Given the description of an element on the screen output the (x, y) to click on. 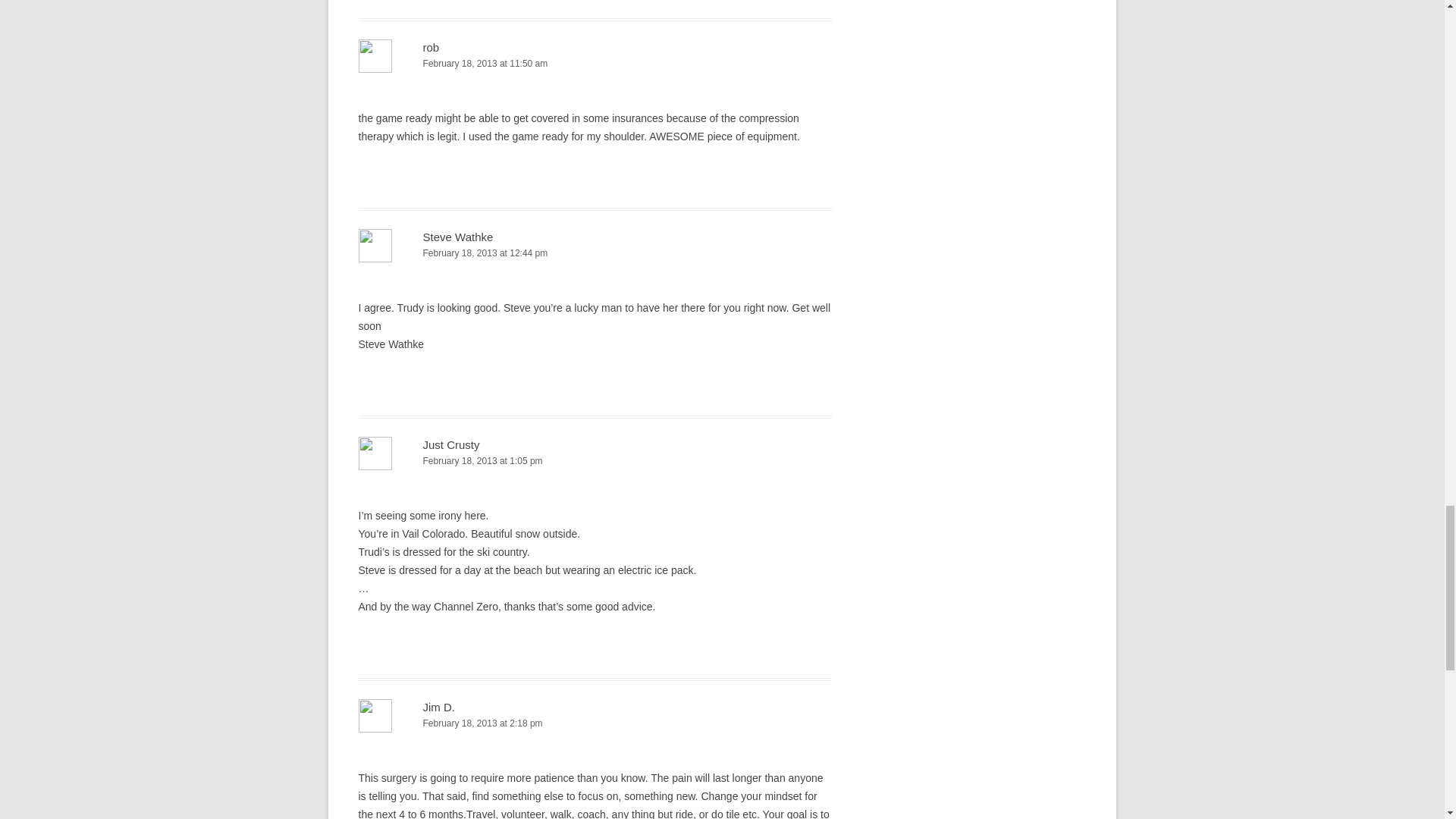
February 18, 2013 at 11:50 am (594, 64)
February 18, 2013 at 12:44 pm (594, 253)
February 18, 2013 at 2:18 pm (594, 723)
February 18, 2013 at 1:05 pm (594, 461)
rob (431, 47)
